Given the description of an element on the screen output the (x, y) to click on. 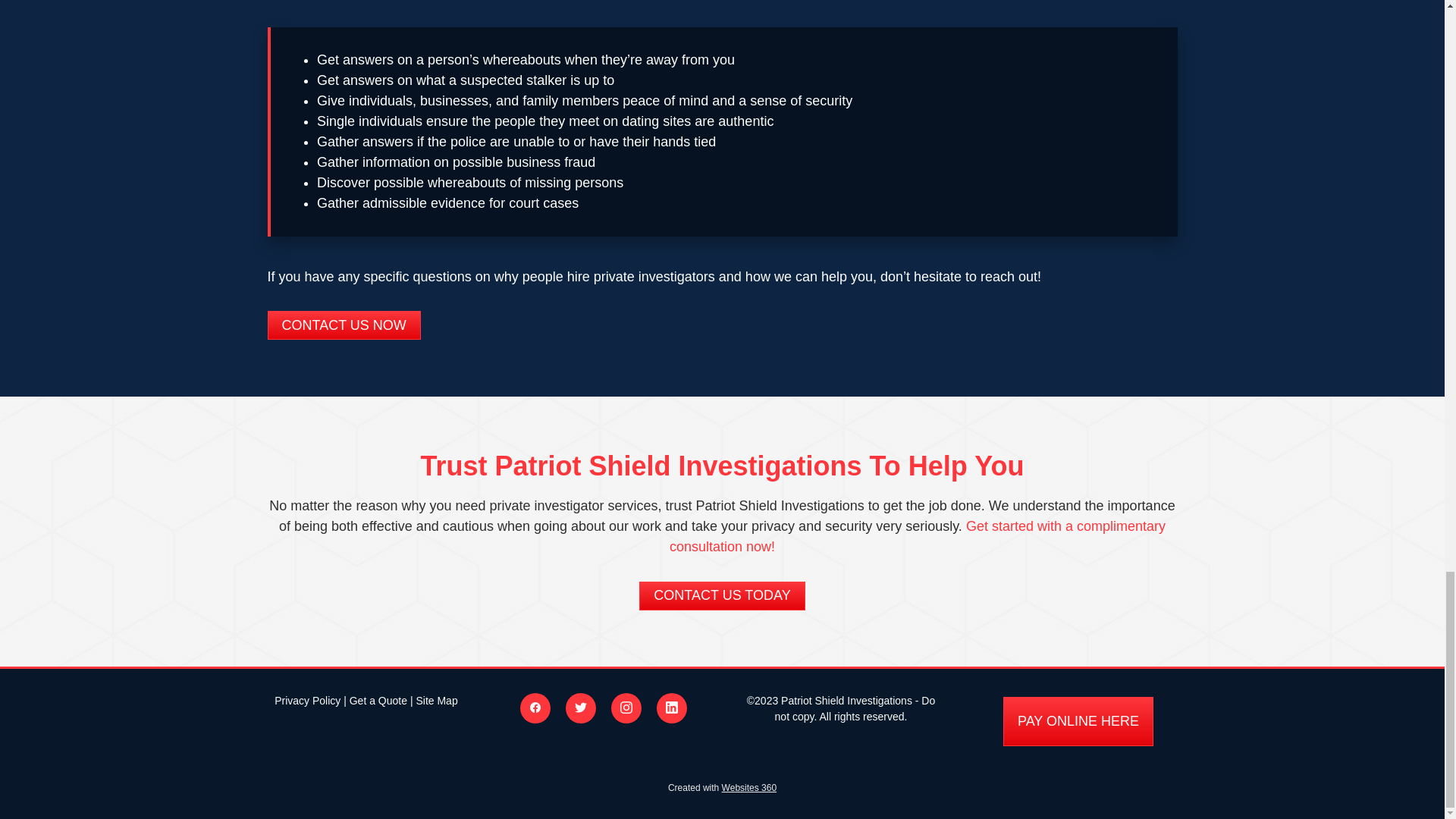
PAY ONLINE HERE (1078, 721)
CONTACT US NOW (343, 325)
CONTACT US TODAY (722, 595)
Site Map (435, 700)
Get a Quote (378, 700)
Get started with a complimentary consultation now! (917, 536)
Privacy Policy (307, 700)
